Given the description of an element on the screen output the (x, y) to click on. 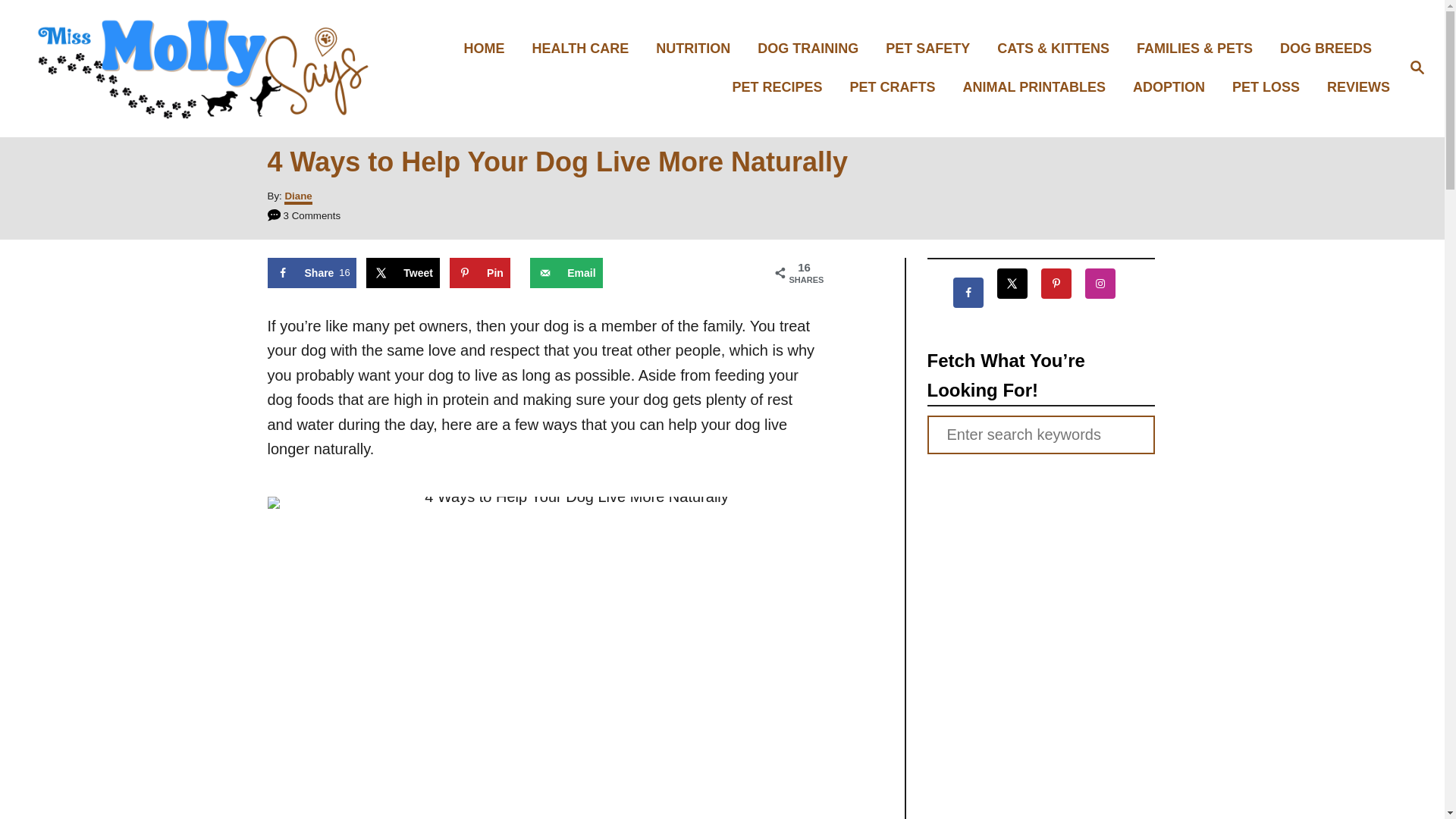
NUTRITION (697, 48)
Share on X (402, 272)
REVIEWS (1353, 87)
DOG TRAINING (812, 48)
Share on Facebook (311, 272)
ADOPTION (1173, 87)
PET CRAFTS (897, 87)
Send over email (565, 272)
PET LOSS (1270, 87)
Magnifying Glass (1416, 67)
Follow on Instagram (1106, 283)
PET SAFETY (932, 48)
DOG BREEDS (1330, 48)
Follow on Facebook (973, 292)
ANIMAL PRINTABLES (1038, 87)
